Given the description of an element on the screen output the (x, y) to click on. 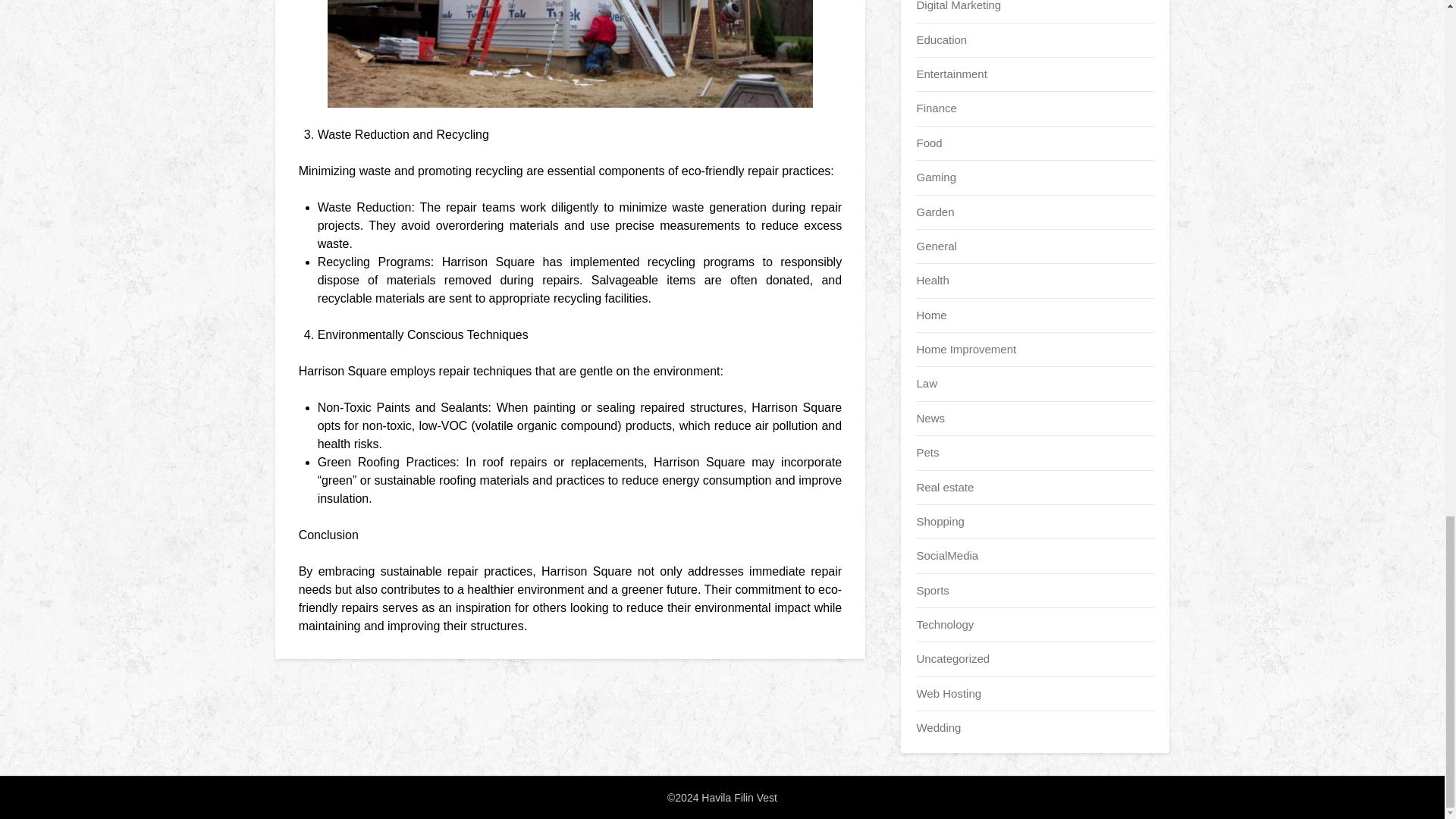
Law (926, 382)
Education (940, 39)
News (929, 418)
Shopping (939, 521)
Home Improvement (965, 349)
Real estate (944, 486)
Health (932, 279)
Sports (932, 590)
General (935, 245)
Finance (935, 107)
Home (930, 314)
SocialMedia (946, 554)
Food (928, 142)
Digital Marketing (958, 5)
Entertainment (951, 73)
